Given the description of an element on the screen output the (x, y) to click on. 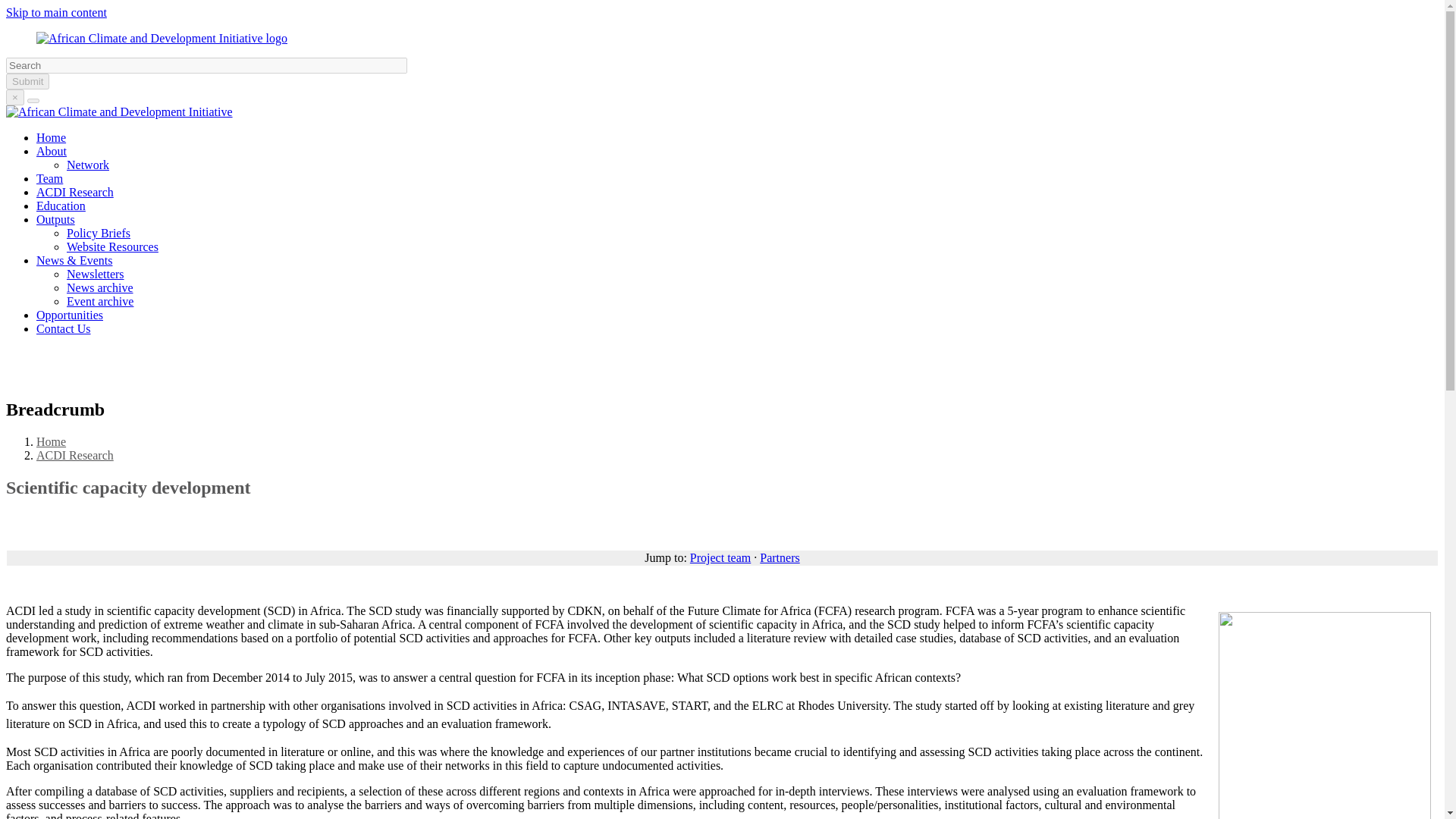
Home (161, 38)
About (51, 151)
Submit (27, 81)
ACDI Research (74, 454)
Newsletters (94, 273)
Skip to main content (55, 11)
Policy Briefs (98, 232)
Project team (720, 557)
Home (50, 137)
Outputs (55, 219)
ACDI Research (74, 192)
Contact Us (63, 328)
